Given the description of an element on the screen output the (x, y) to click on. 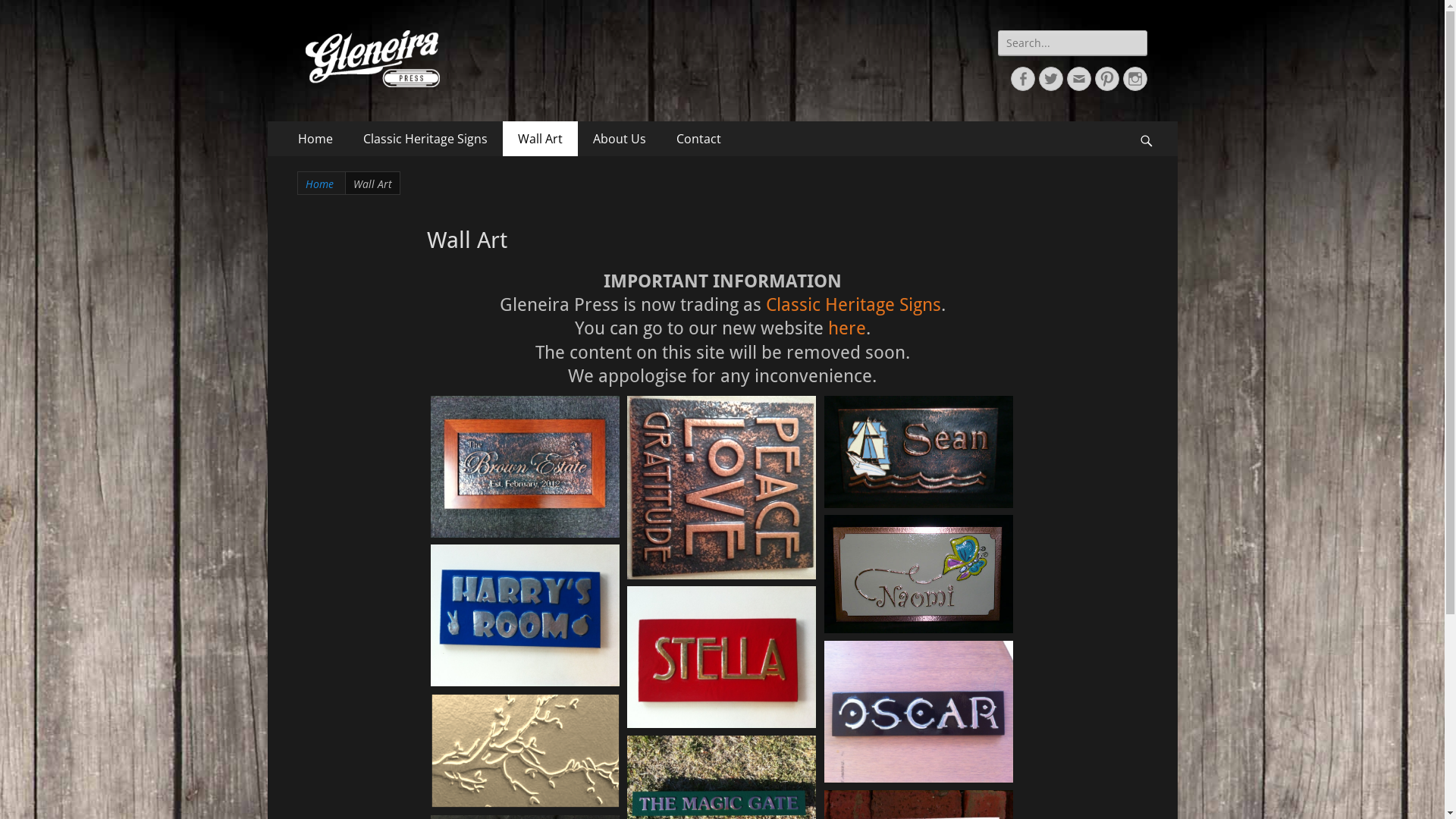
oscars-room-bedroom-door-sign Element type: hover (918, 711)
Copper Door Plaque 220x150 Element type: hover (918, 573)
Home Element type: text (320, 183)
Family Tree Element type: hover (525, 750)
Home Element type: text (314, 138)
Classic Heritage Signs Element type: text (853, 304)
Email Element type: text (1078, 78)
Twitter Element type: text (1050, 78)
here Element type: text (847, 327)
Peace Love Gratitude Wall Art 180x180 Element type: hover (720, 487)
estate-embossed-copper-timber-frame-house-sign Element type: hover (525, 466)
stellas-room-bedroom-door-sign Element type: hover (720, 657)
Contact Element type: text (698, 138)
Facebook Element type: text (1022, 78)
Instagram Element type: text (1134, 78)
Search Element type: text (23, 12)
Search for: Element type: hover (1072, 42)
Copper Door Plaque 340x170 Element type: hover (918, 451)
Classic Heritage Signs Element type: text (424, 138)
Wall Art Element type: text (539, 138)
Search Element type: text (1154, 121)
Pinterest Element type: text (1107, 78)
harrys-room-bedroom-door-sign Element type: hover (525, 615)
About Us Element type: text (619, 138)
